Given the description of an element on the screen output the (x, y) to click on. 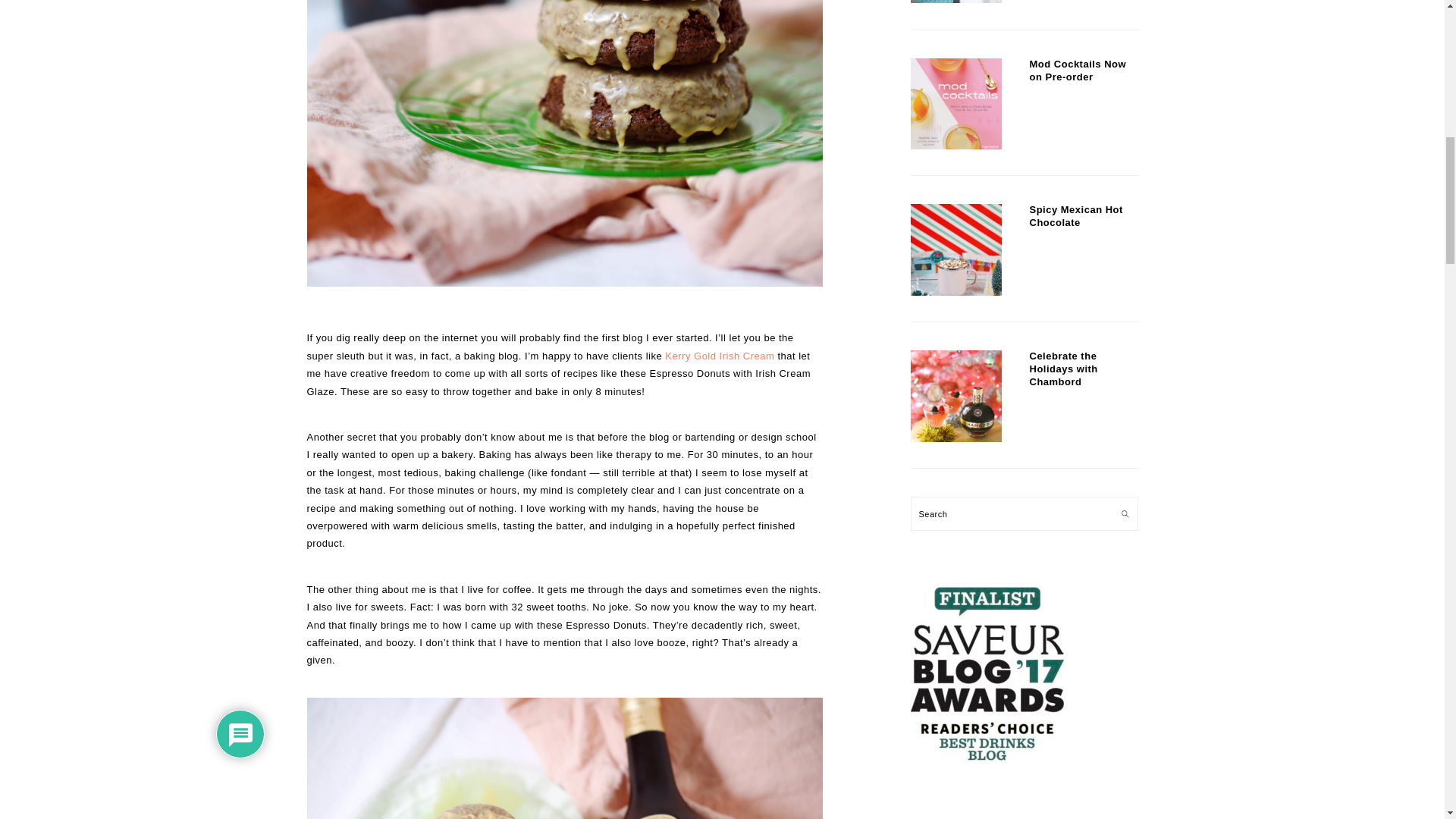
Kerry Gold Irish Cream (719, 355)
